Given the description of an element on the screen output the (x, y) to click on. 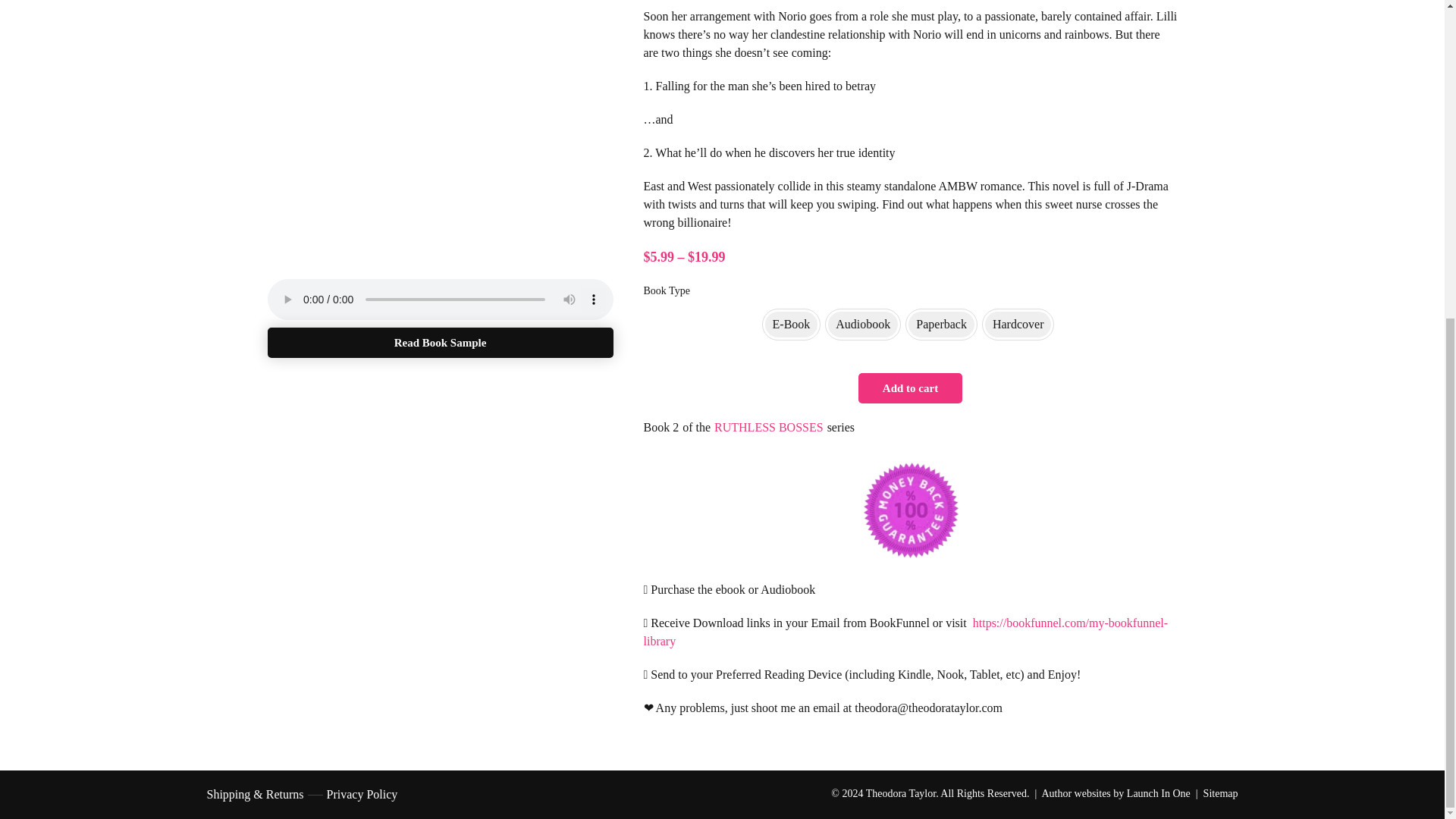
E-Book (791, 324)
Add to cart (910, 388)
of the (696, 427)
Paperback (940, 324)
Audiobook (863, 324)
Book 2 (660, 427)
Read Book Sample (439, 342)
series (840, 427)
RUTHLESS BOSSES (769, 427)
Privacy Policy (361, 794)
Hardcover (1017, 324)
